Given the description of an element on the screen output the (x, y) to click on. 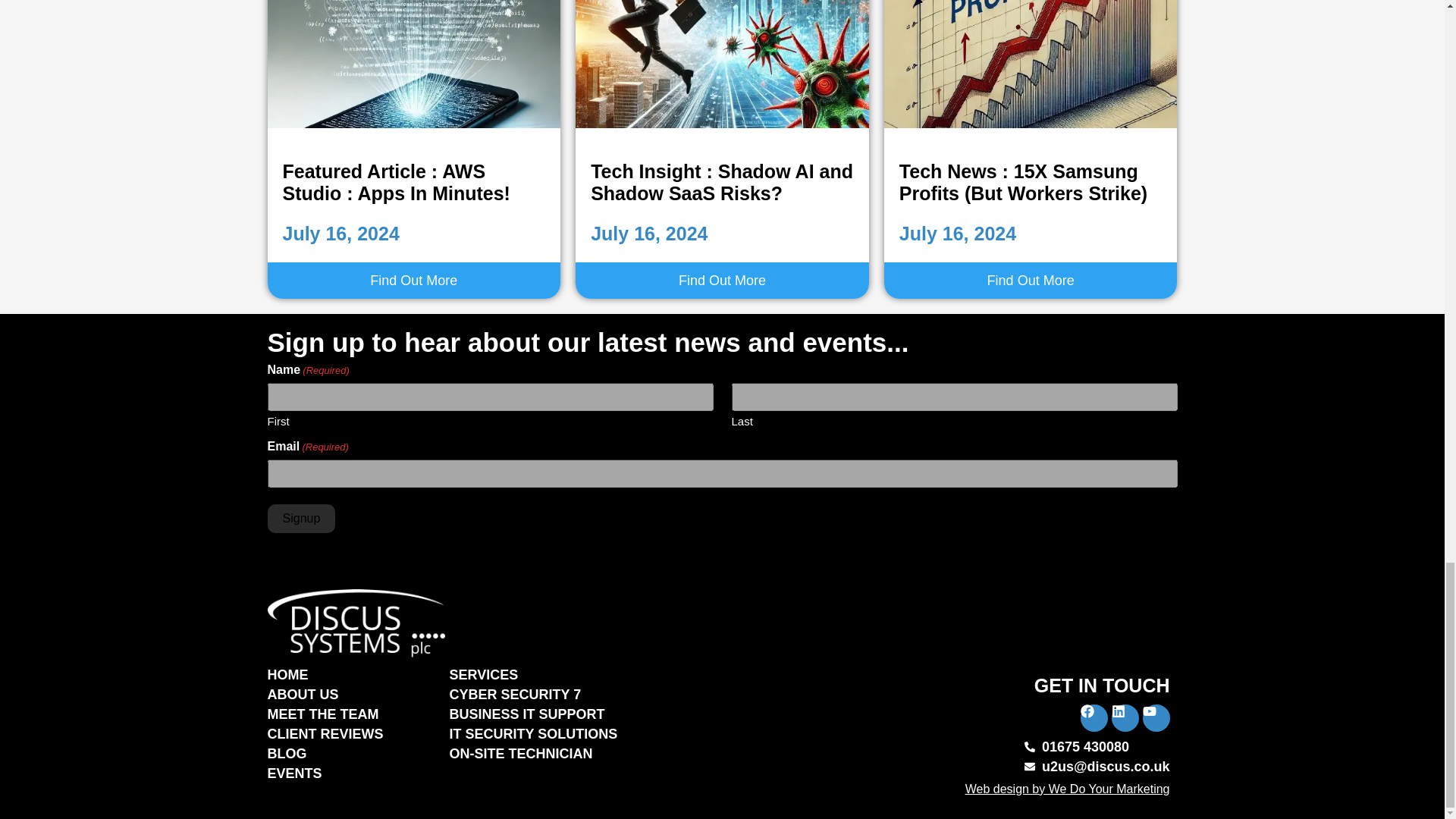
Signup (300, 518)
